Given the description of an element on the screen output the (x, y) to click on. 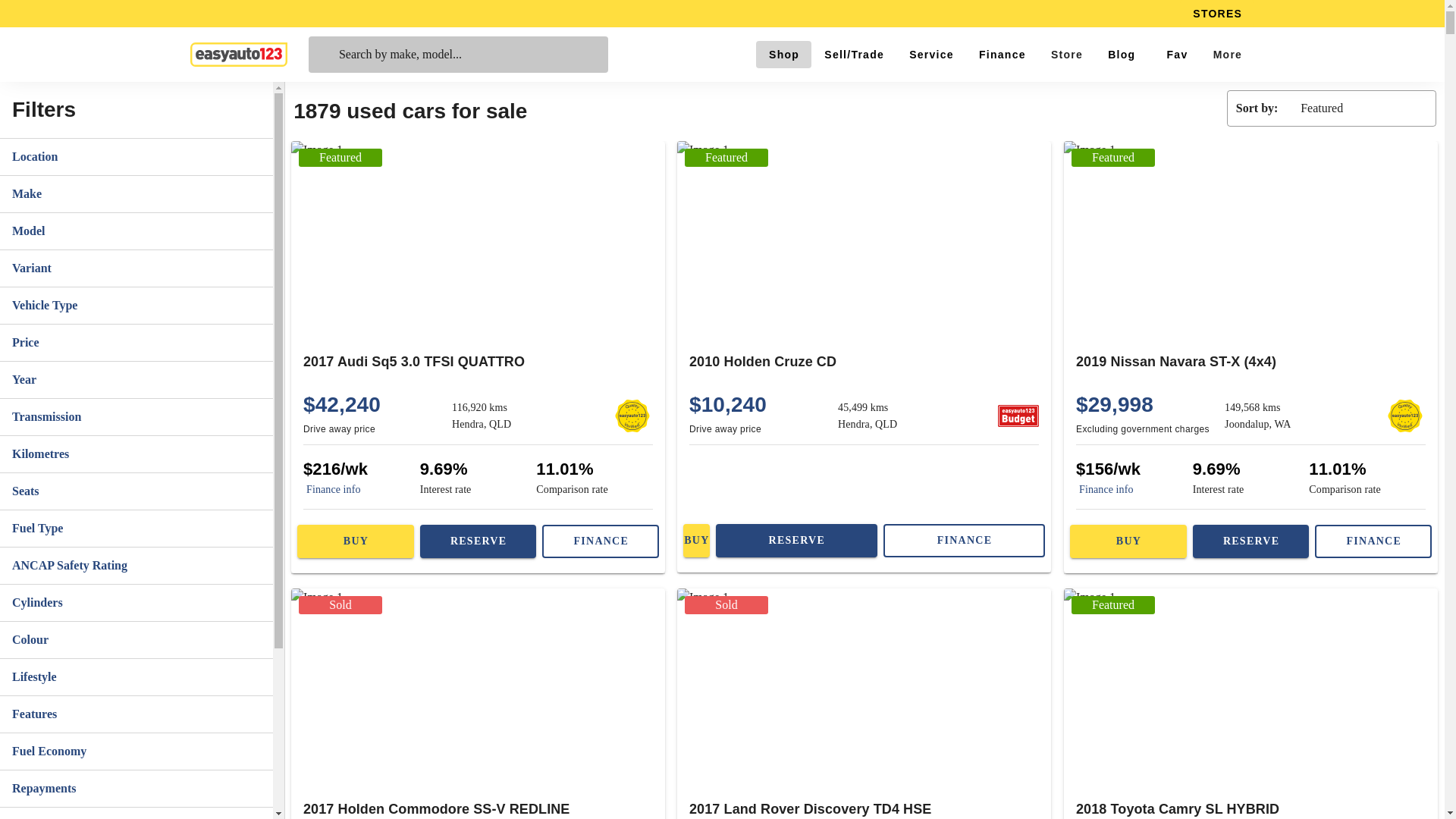
Store (1066, 53)
Shop (782, 53)
Fav (1173, 53)
Finance (1002, 53)
STORES (1216, 13)
Service (931, 53)
More (1226, 53)
Blog (1120, 53)
